Given the description of an element on the screen output the (x, y) to click on. 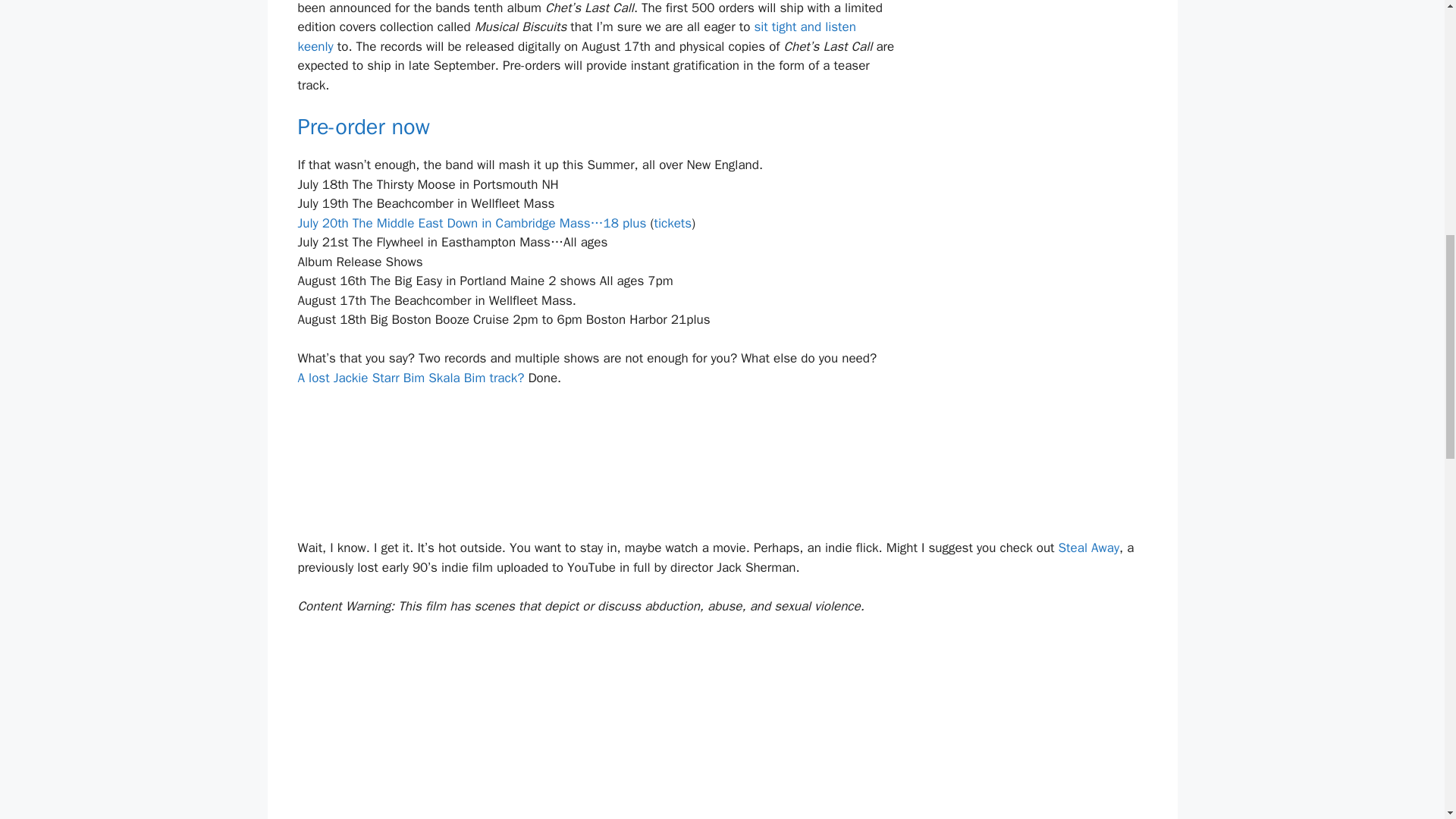
tickets (672, 222)
sit tight and listen keenly (576, 36)
Lorraine (410, 377)
Chet's Last Call Pre-order (366, 126)
A lost Jackie Starr Bim Skala Bim track? (410, 377)
Pre-order now  (366, 126)
Steal Away (1088, 547)
